Given the description of an element on the screen output the (x, y) to click on. 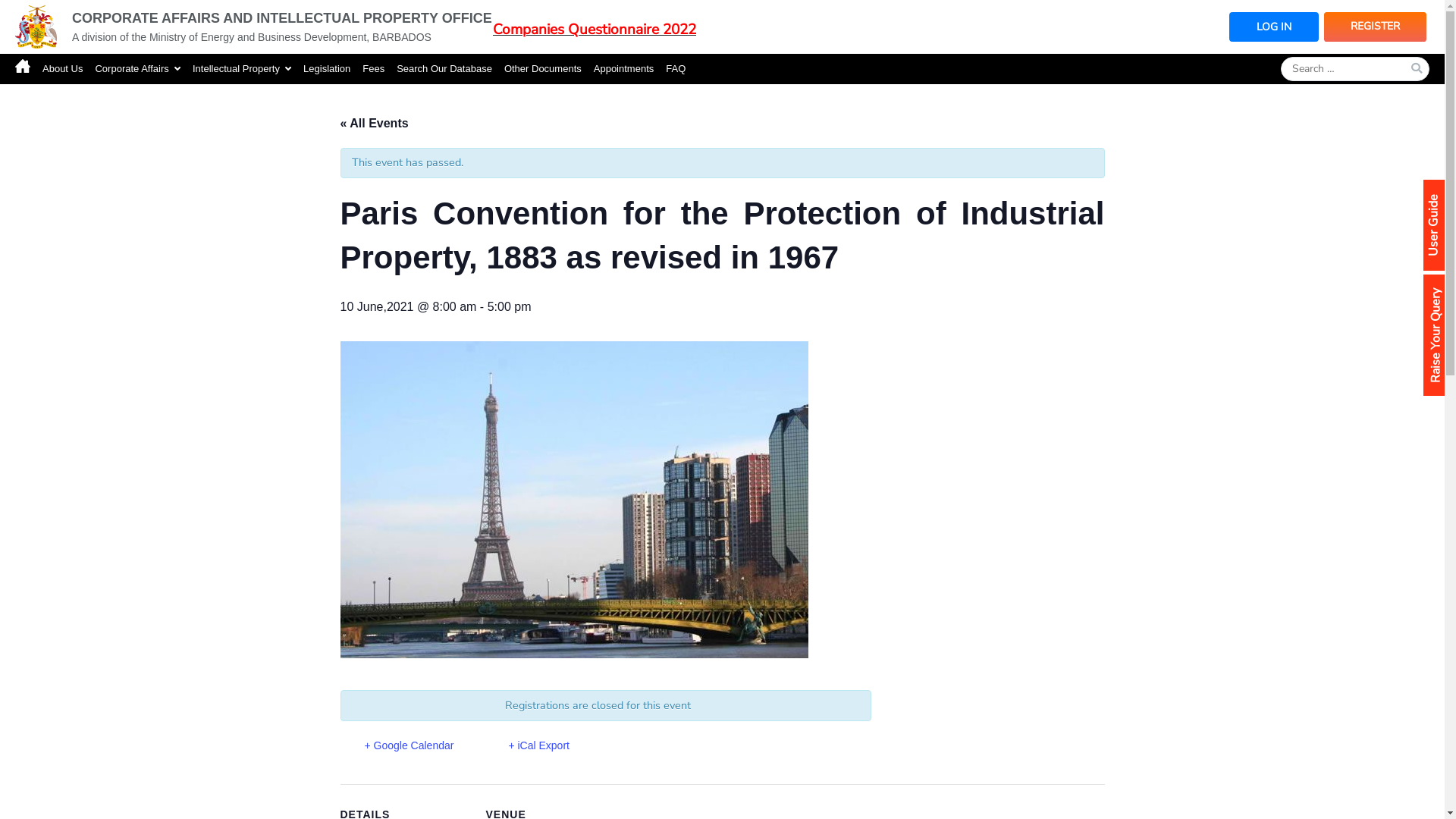
CORPORATE AFFAIRS AND INTELLECTUAL PROPERTY OFFICE Element type: text (282, 17)
Fees Element type: text (373, 68)
FAQ Element type: text (675, 68)
+ iCal Export Element type: text (526, 745)
+ Google Calendar Element type: text (396, 745)
Corporate Affairs Element type: text (137, 68)
Other Documents Element type: text (542, 68)
Intellectual Property Element type: text (241, 68)
Appointments Element type: text (623, 68)
Search Our Database Element type: text (444, 68)
About Us Element type: text (62, 68)
REGISTER Element type: text (1375, 26)
Companies Questionnaire 2022 Element type: text (594, 29)
Search Element type: text (25, 12)
LOG IN Element type: text (1273, 26)
Legislation Element type: text (326, 68)
